Given the description of an element on the screen output the (x, y) to click on. 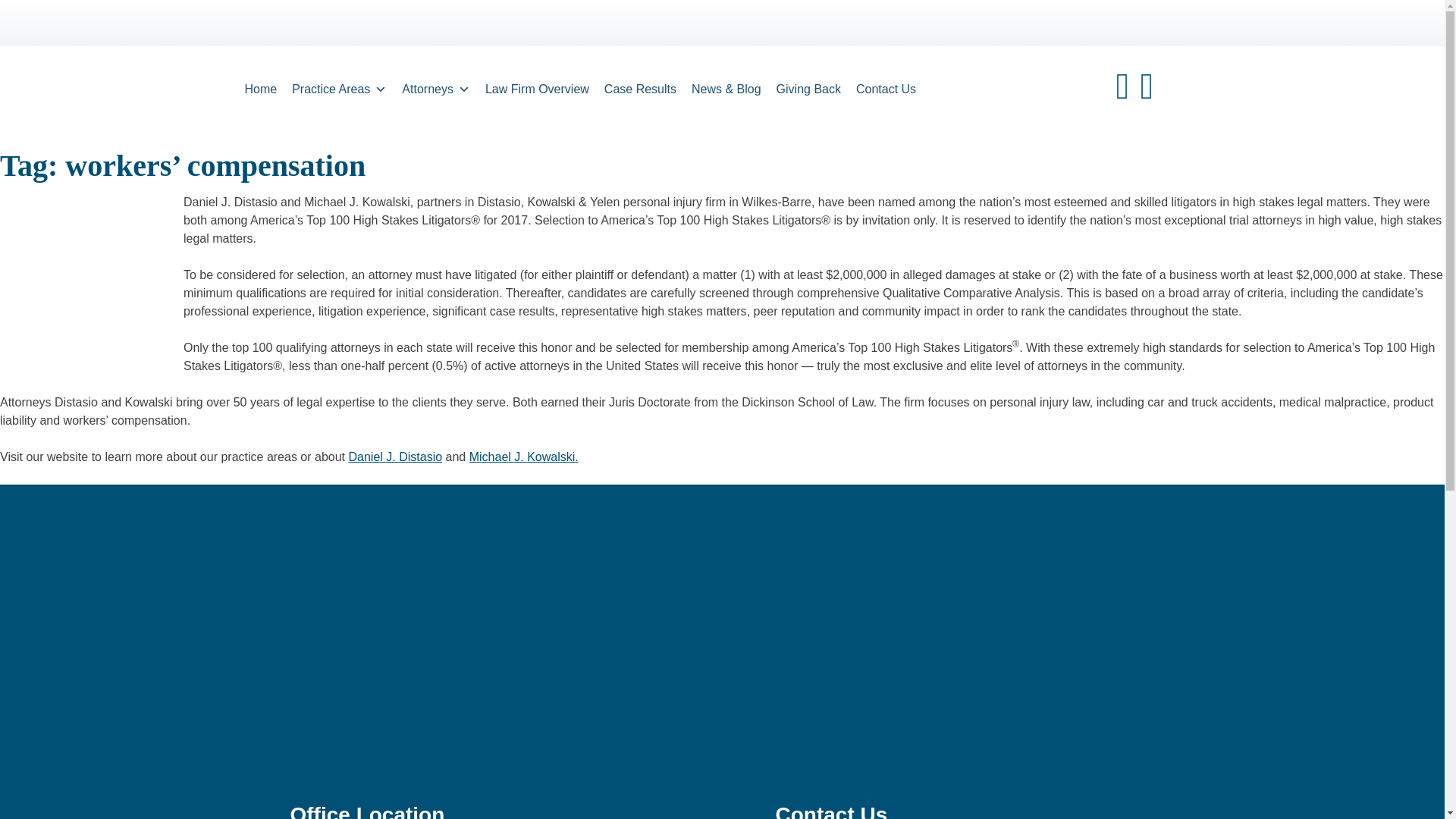
Home (259, 89)
Practice Areas (338, 89)
Attorneys (435, 89)
Law Firm Overview (536, 89)
Case Results (640, 89)
